Given the description of an element on the screen output the (x, y) to click on. 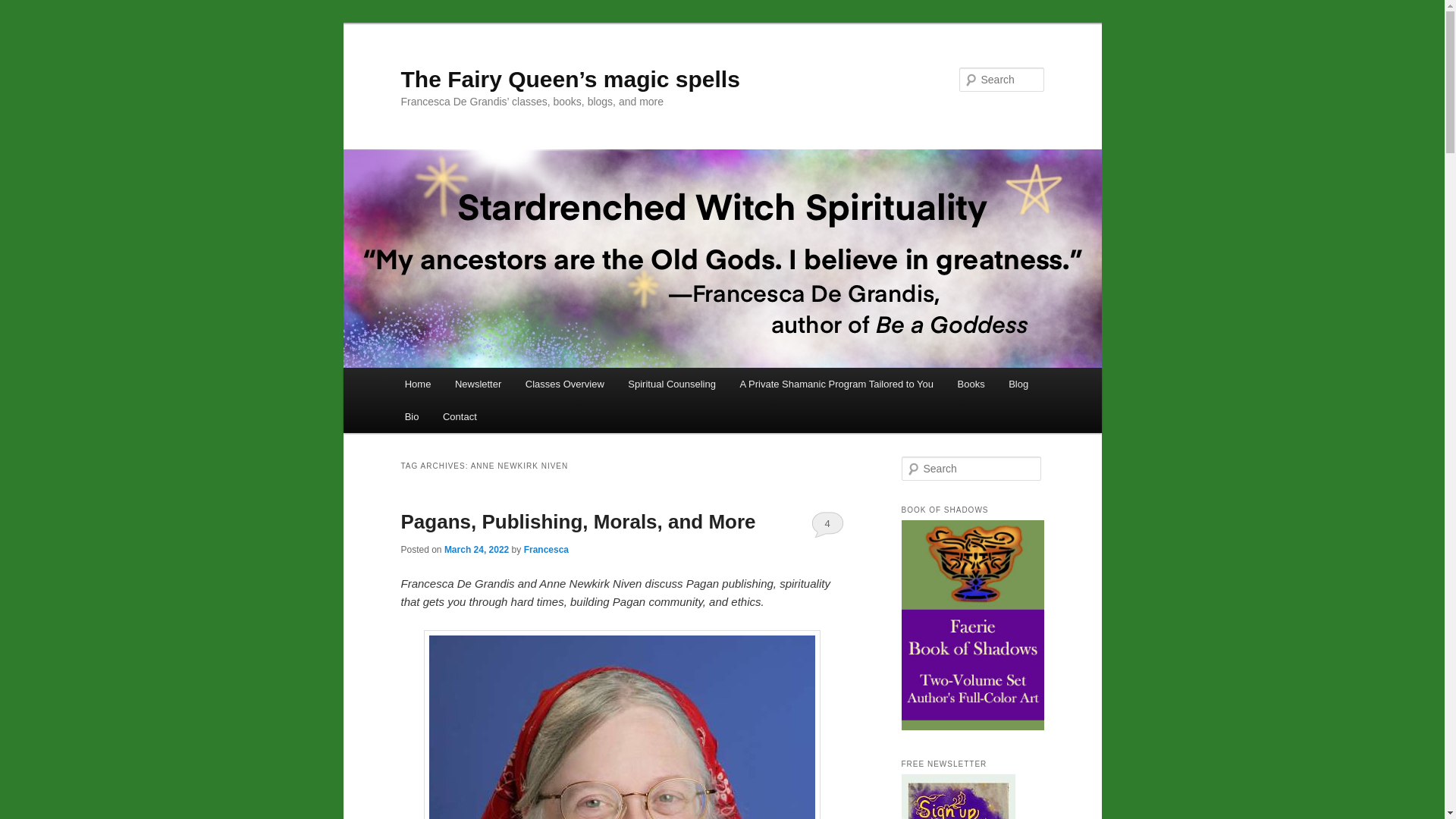
Blog (1018, 383)
Books (970, 383)
View all posts by Francesca (546, 549)
4 (827, 523)
March 24, 2022 (476, 549)
Contact (458, 416)
Home (417, 383)
Pagans, Publishing, Morals, and More (577, 521)
Francesca (546, 549)
Spiritual Counseling (671, 383)
A Private Shamanic Program Tailored to You (836, 383)
Newsletter (477, 383)
6:44 pm (476, 549)
Bio (411, 416)
